Given the description of an element on the screen output the (x, y) to click on. 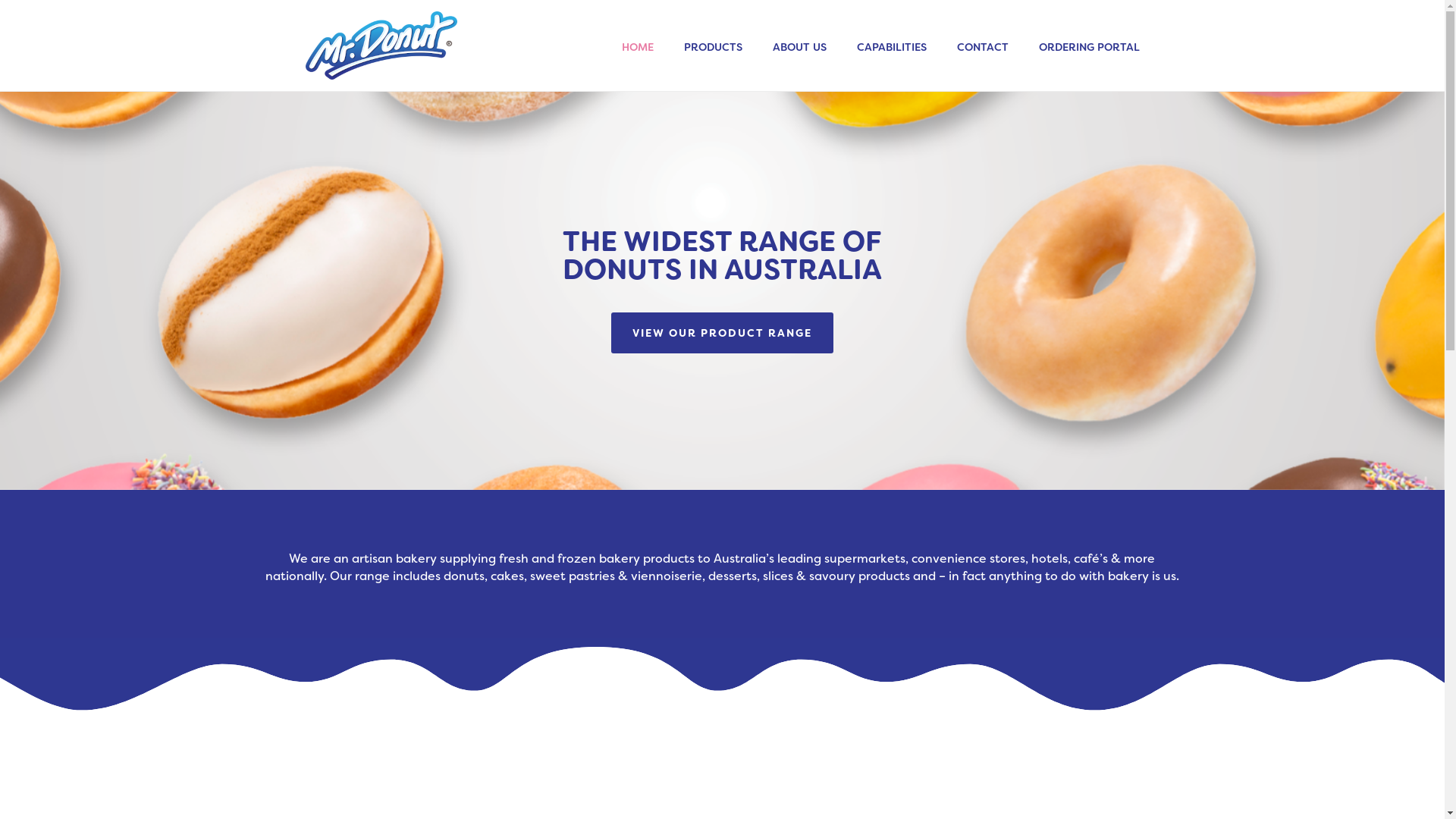
CAPABILITIES Element type: text (891, 45)
CONTACT Element type: text (982, 45)
PRODUCTS Element type: text (712, 45)
VIEW OUR PRODUCT RANGE Element type: text (722, 332)
ABOUT US Element type: text (798, 45)
HOME Element type: text (637, 45)
ORDERING PORTAL Element type: text (1088, 45)
The Widest Range of Donuts in Australia Element type: hover (380, 45)
